Given the description of an element on the screen output the (x, y) to click on. 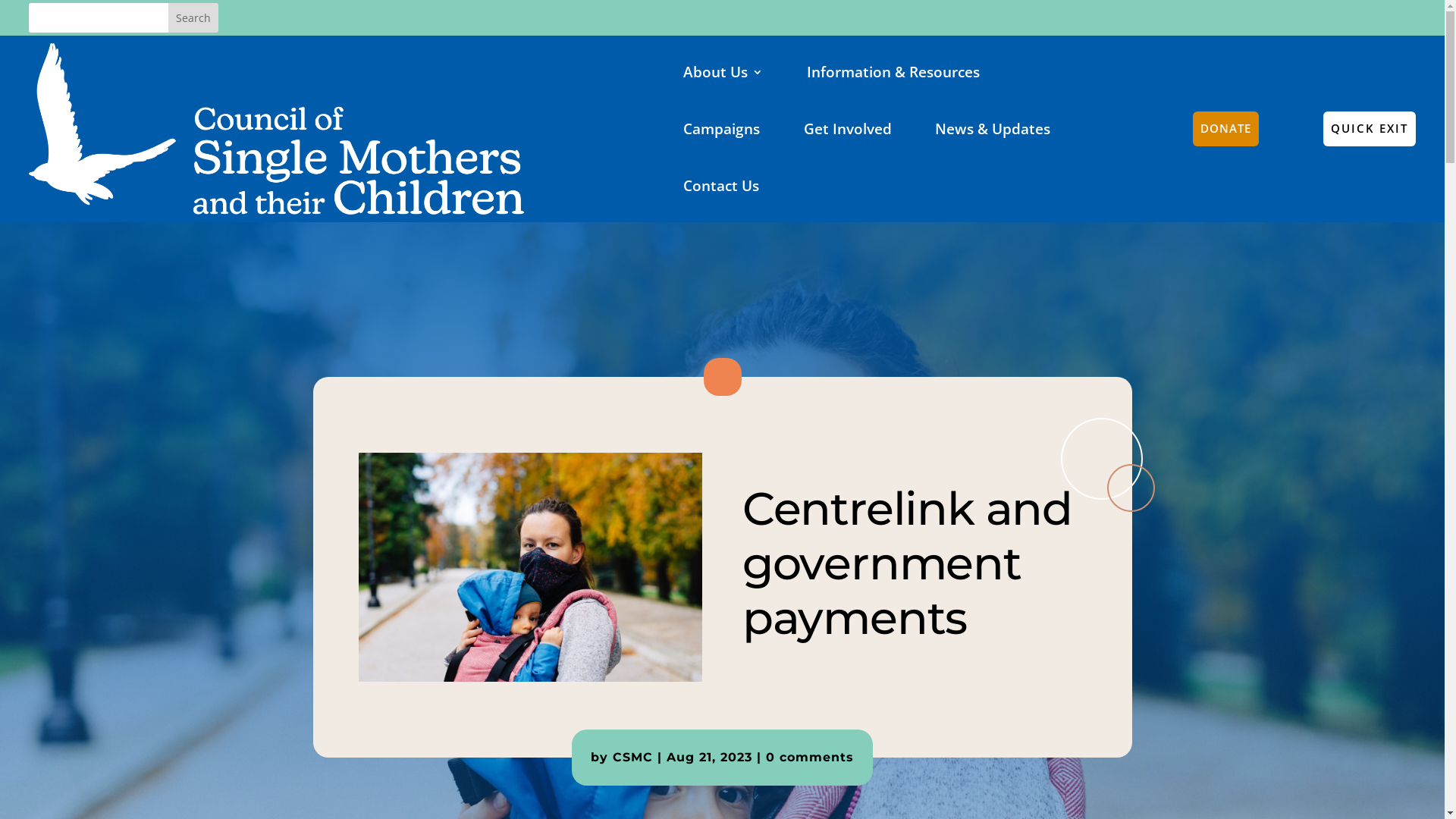
CSMC Element type: text (632, 756)
QUICK EXIT Element type: text (1369, 128)
DONATE Element type: text (1225, 128)
0 comments Element type: text (809, 756)
Contact Us Element type: text (721, 185)
About Us Element type: text (722, 71)
Get Involved Element type: text (847, 128)
Information & Resources Element type: text (892, 71)
News & Updates Element type: text (992, 128)
ngo-illustration-Artboard 5 Element type: hover (529, 567)
NGO-img-26 Element type: hover (1107, 464)
Search Element type: text (193, 17)
Campaigns Element type: text (721, 128)
